Given the description of an element on the screen output the (x, y) to click on. 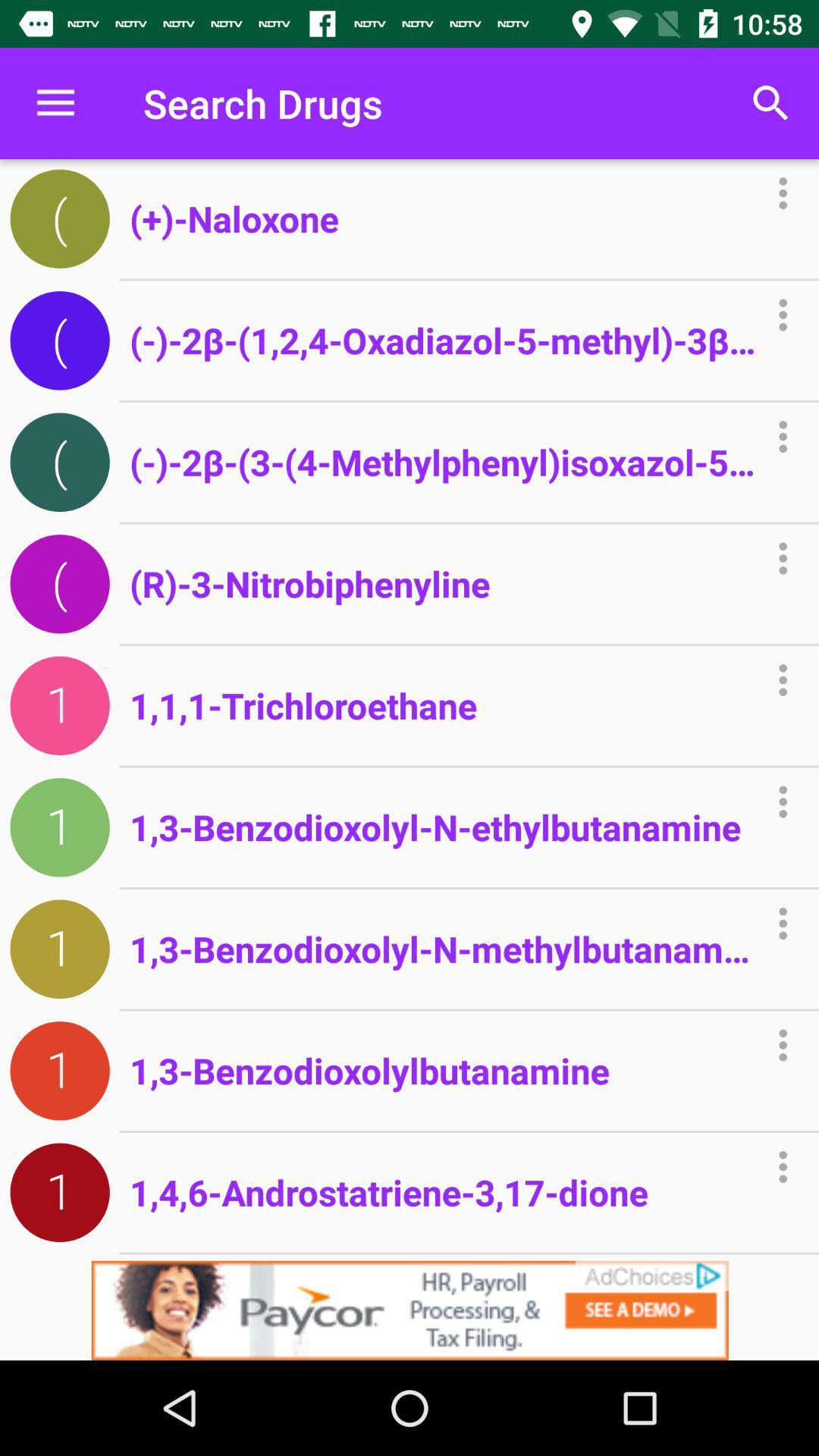
click on the icon left to 13benzodioxolylbutanamine (59, 1071)
click on the icon in the last row to the right of 17dione (782, 1166)
click the third icon below the menu (59, 462)
click on the fourth block from the top (59, 583)
select the top second block under the search bar (59, 340)
click the seventh icon below the menu bar (59, 948)
